Given the description of an element on the screen output the (x, y) to click on. 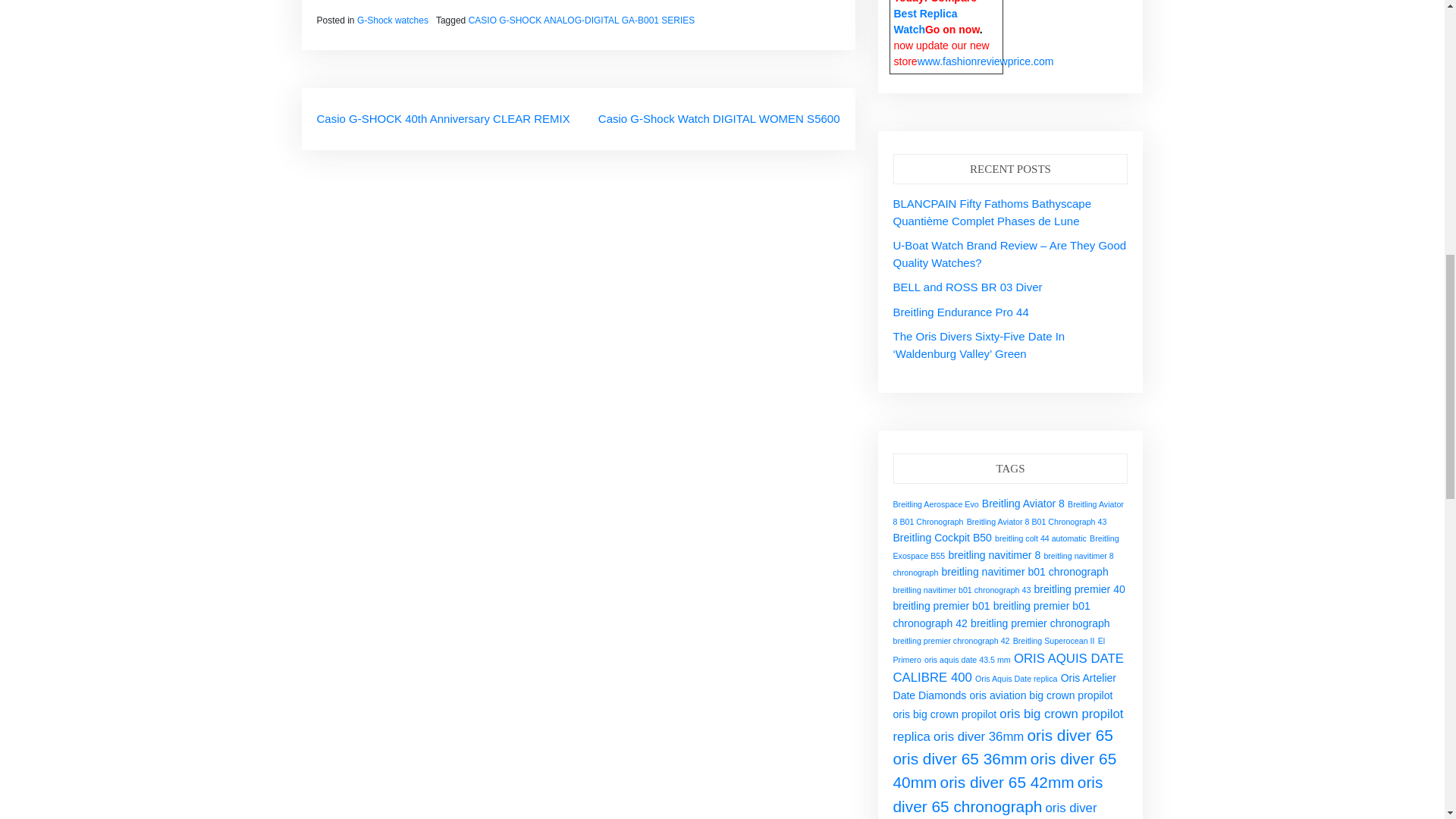
G-Shock watches (392, 20)
Breitling Aerospace Evo (935, 503)
www.fashionreviewprice.com (985, 61)
BELL and ROSS BR 03 Diver (967, 286)
breitling colt 44 automatic (1040, 537)
Breitling Endurance Pro 44 (961, 311)
Breitling Aviator 8 B01 Chronograph (1008, 512)
Breitling Aviator 8 (1022, 503)
Casio G-Shock Watch DIGITAL WOMEN S5600 (719, 118)
Best Replica Watch (924, 21)
